Given the description of an element on the screen output the (x, y) to click on. 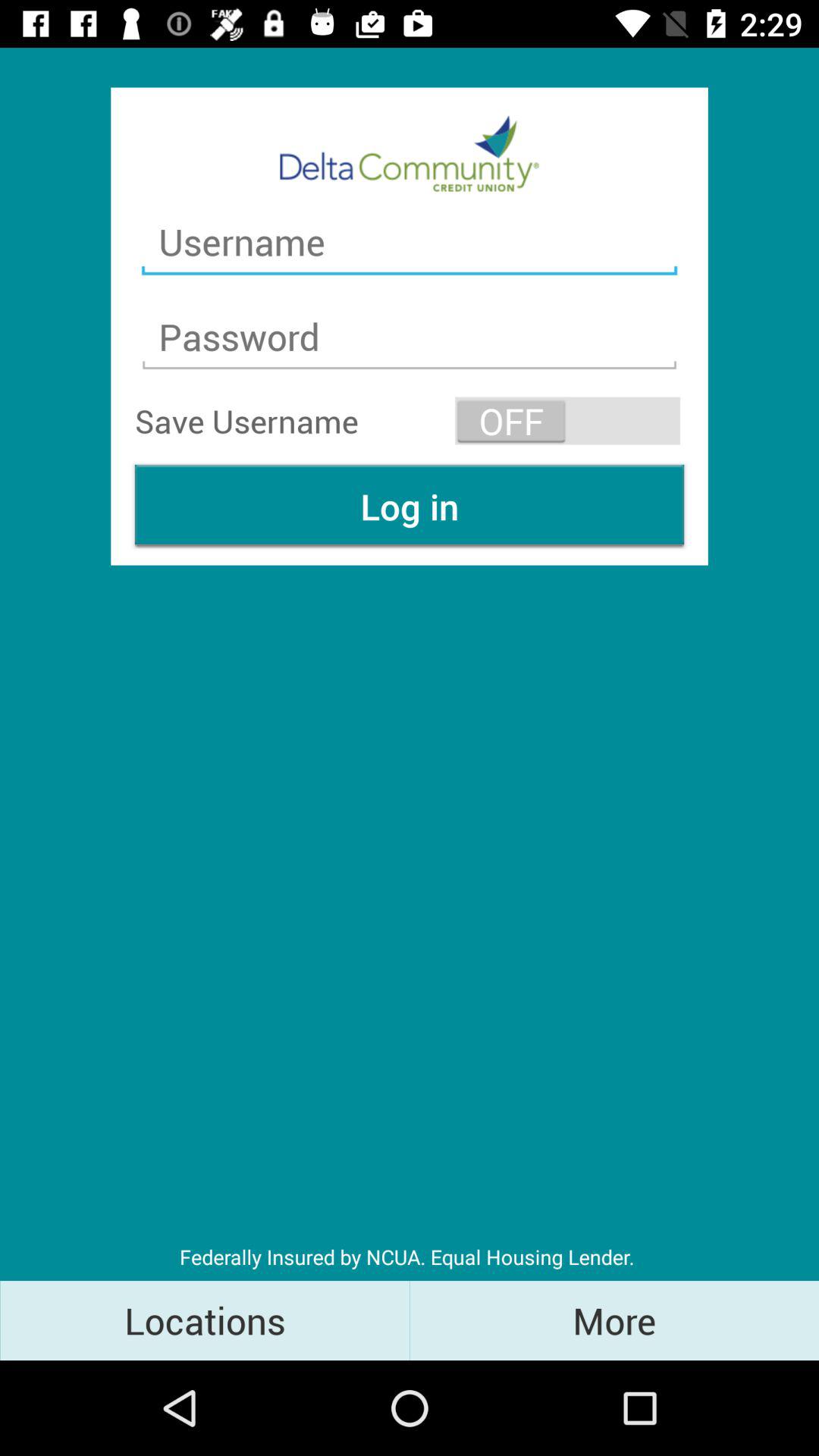
press the log in icon (409, 506)
